Given the description of an element on the screen output the (x, y) to click on. 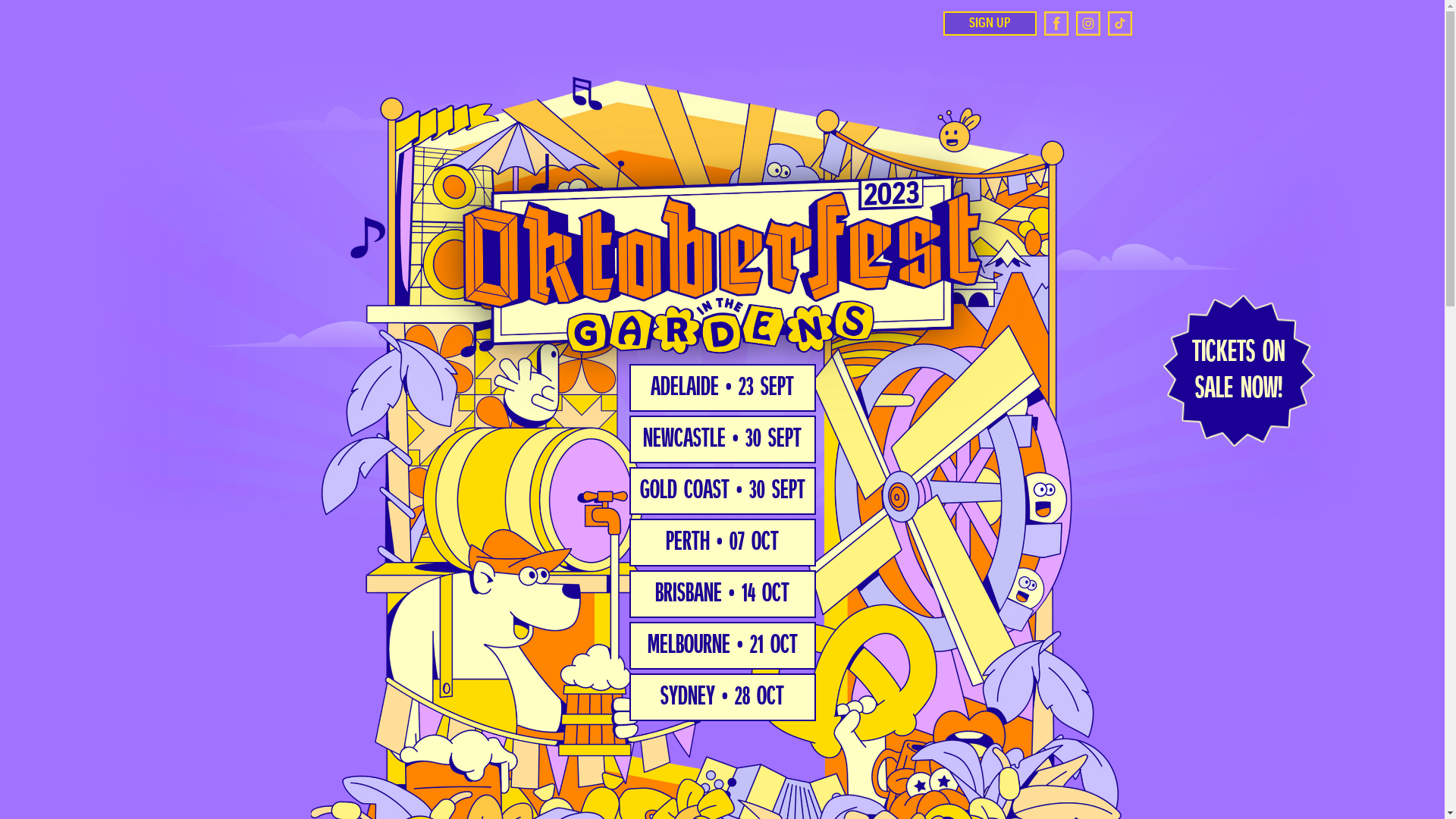
TikTok Element type: text (1119, 23)
Instagram Element type: text (1087, 23)
Facebook Element type: text (1055, 23)
TICKETS ON SALE NOW! Element type: text (1238, 370)
SIGN UP Element type: text (989, 23)
